Given the description of an element on the screen output the (x, y) to click on. 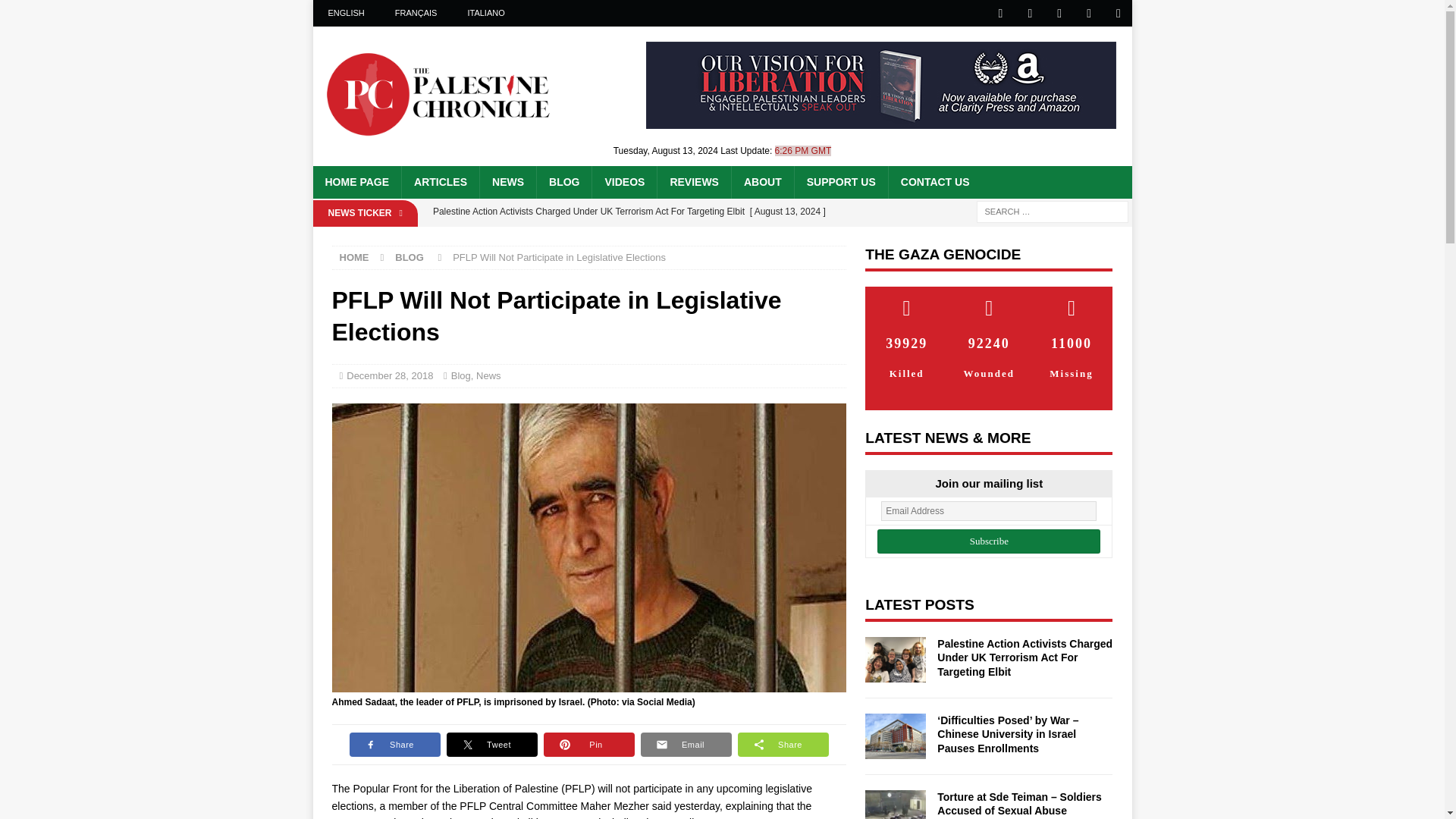
Subscribe (988, 541)
HOME (354, 256)
NEWS (507, 182)
HOME PAGE (357, 182)
Search (56, 11)
ARTICLES (440, 182)
ITALIANO (485, 13)
ABOUT (761, 182)
